Given the description of an element on the screen output the (x, y) to click on. 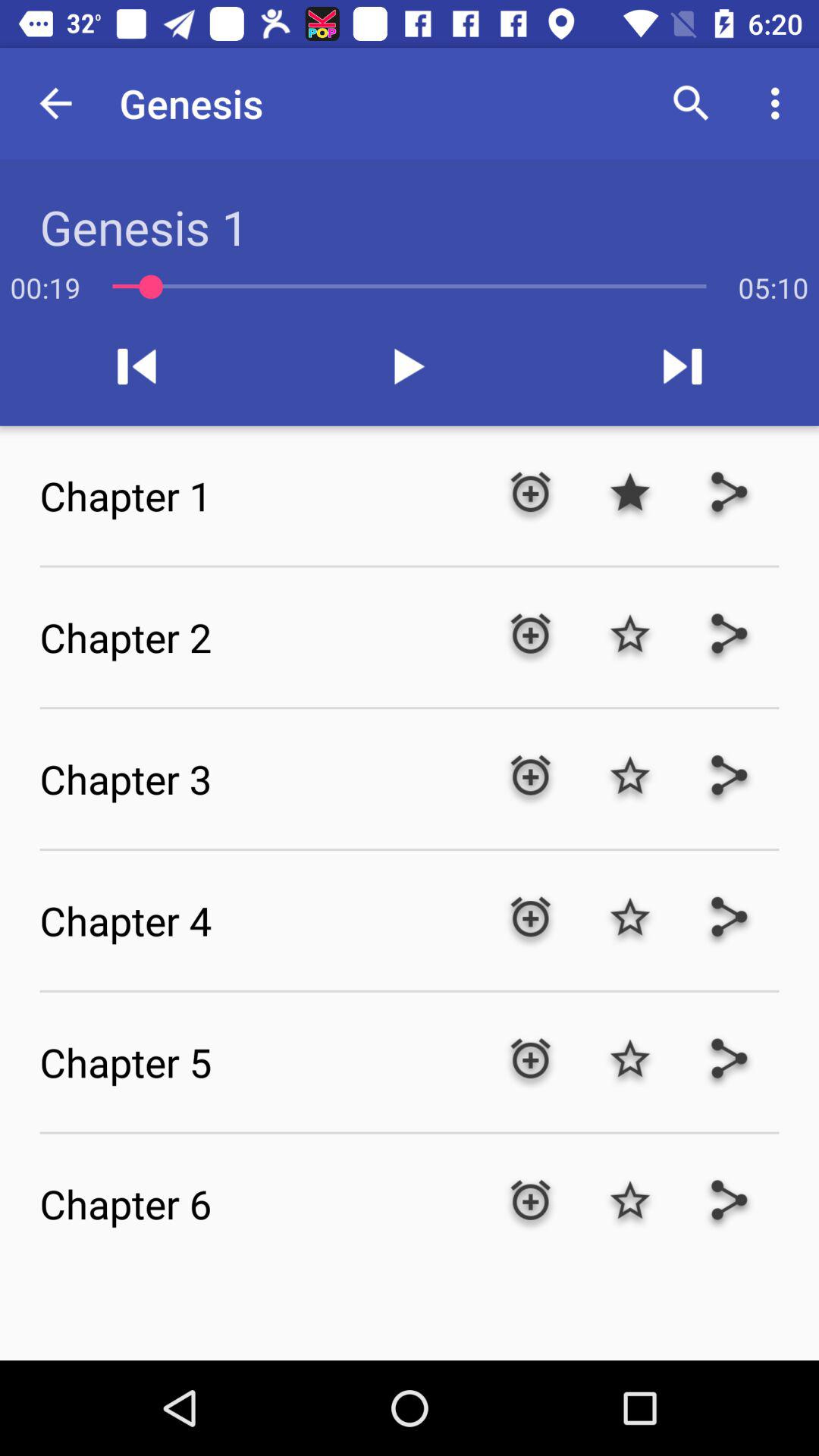
swipe until the chapter 4 icon (259, 920)
